Given the description of an element on the screen output the (x, y) to click on. 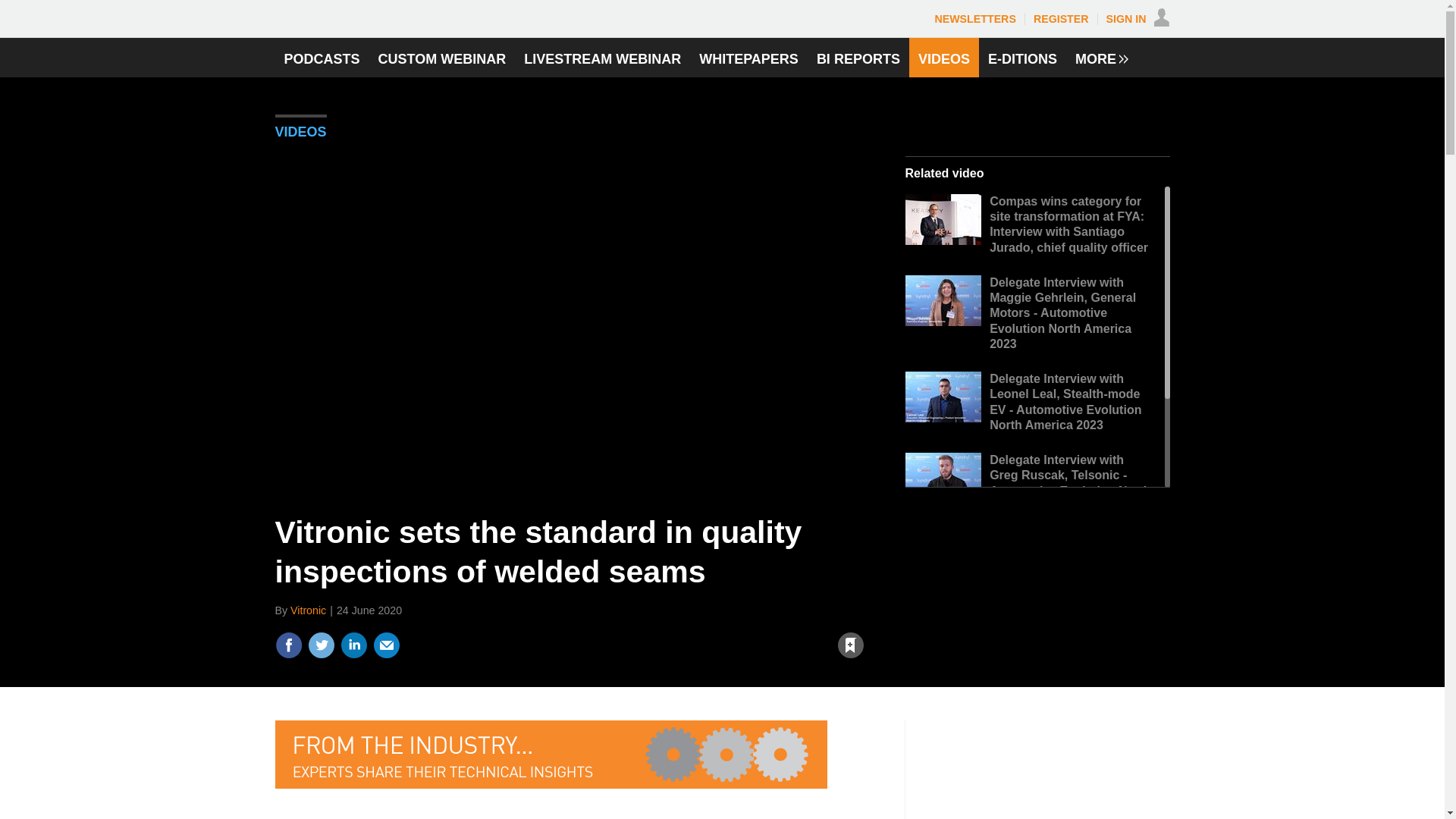
PODCASTS (321, 56)
Vitronic (307, 610)
NEWSLETTERS (974, 19)
WHITEPAPERS (749, 56)
BI REPORTS (858, 56)
VIDEOS (300, 135)
Email this article (386, 645)
REGISTER (1061, 19)
CUSTOM WEBINAR (442, 56)
SIGN IN (1138, 19)
Share this on Twitter (320, 645)
